Given the description of an element on the screen output the (x, y) to click on. 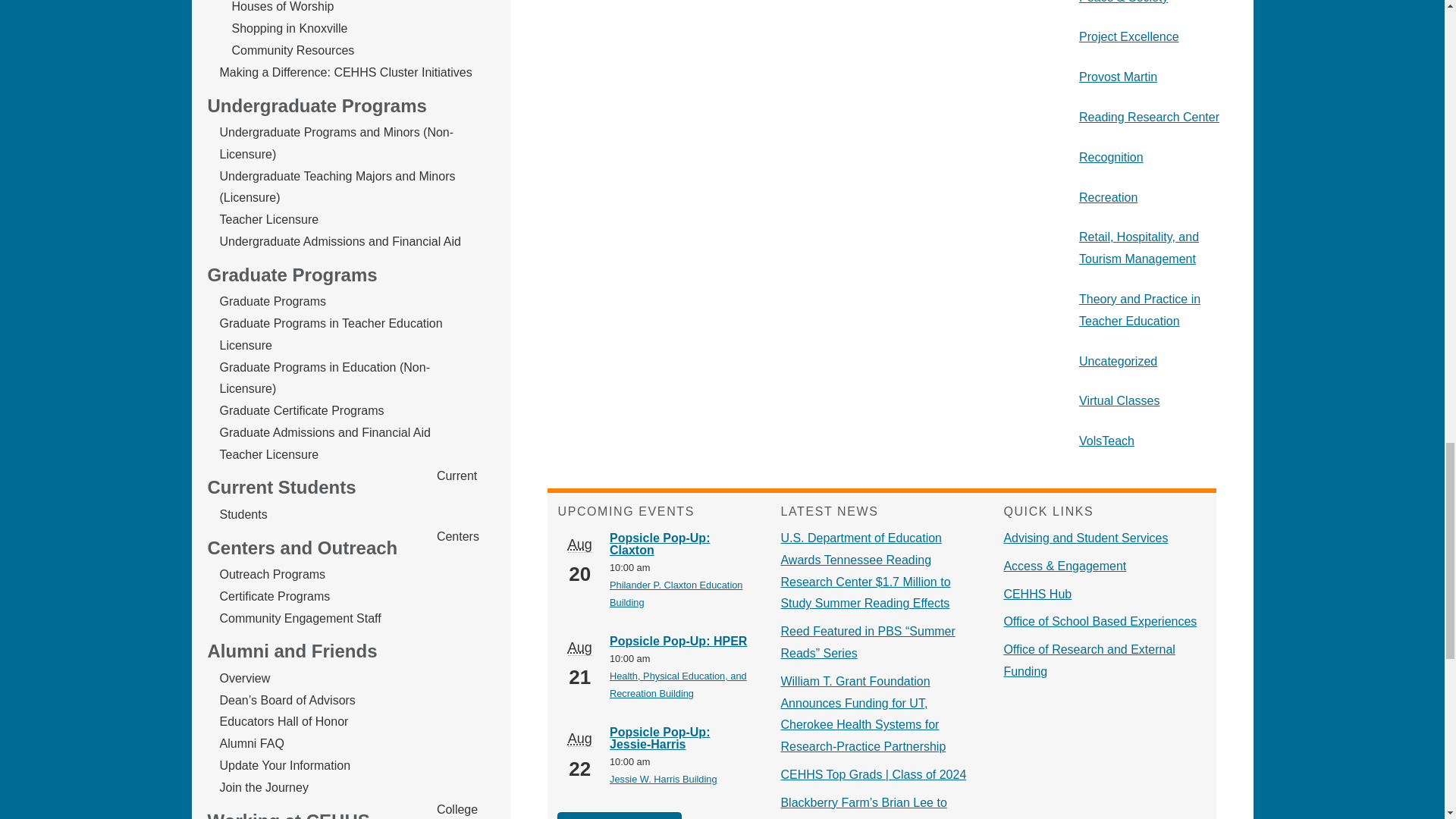
August (579, 738)
August (579, 544)
August (579, 647)
